Given the description of an element on the screen output the (x, y) to click on. 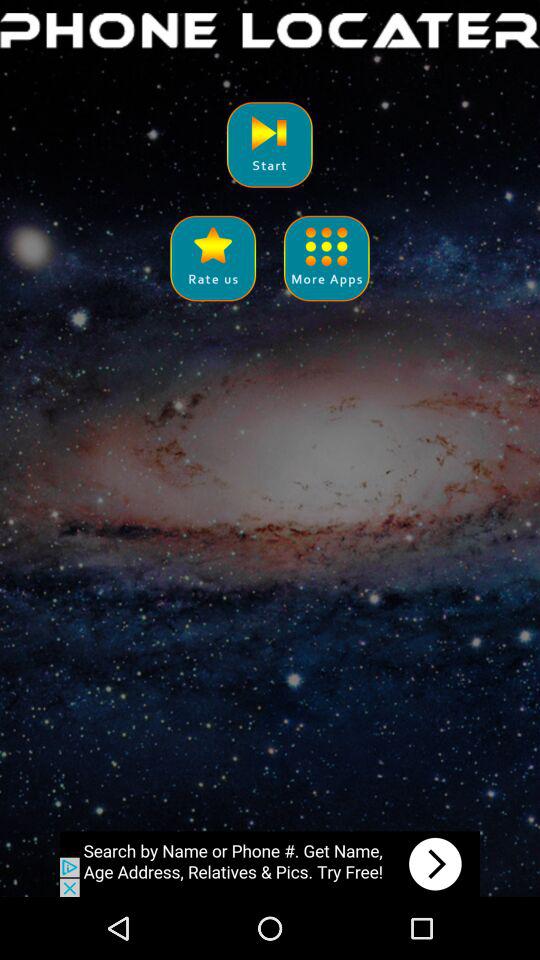
make a rating (212, 258)
